Given the description of an element on the screen output the (x, y) to click on. 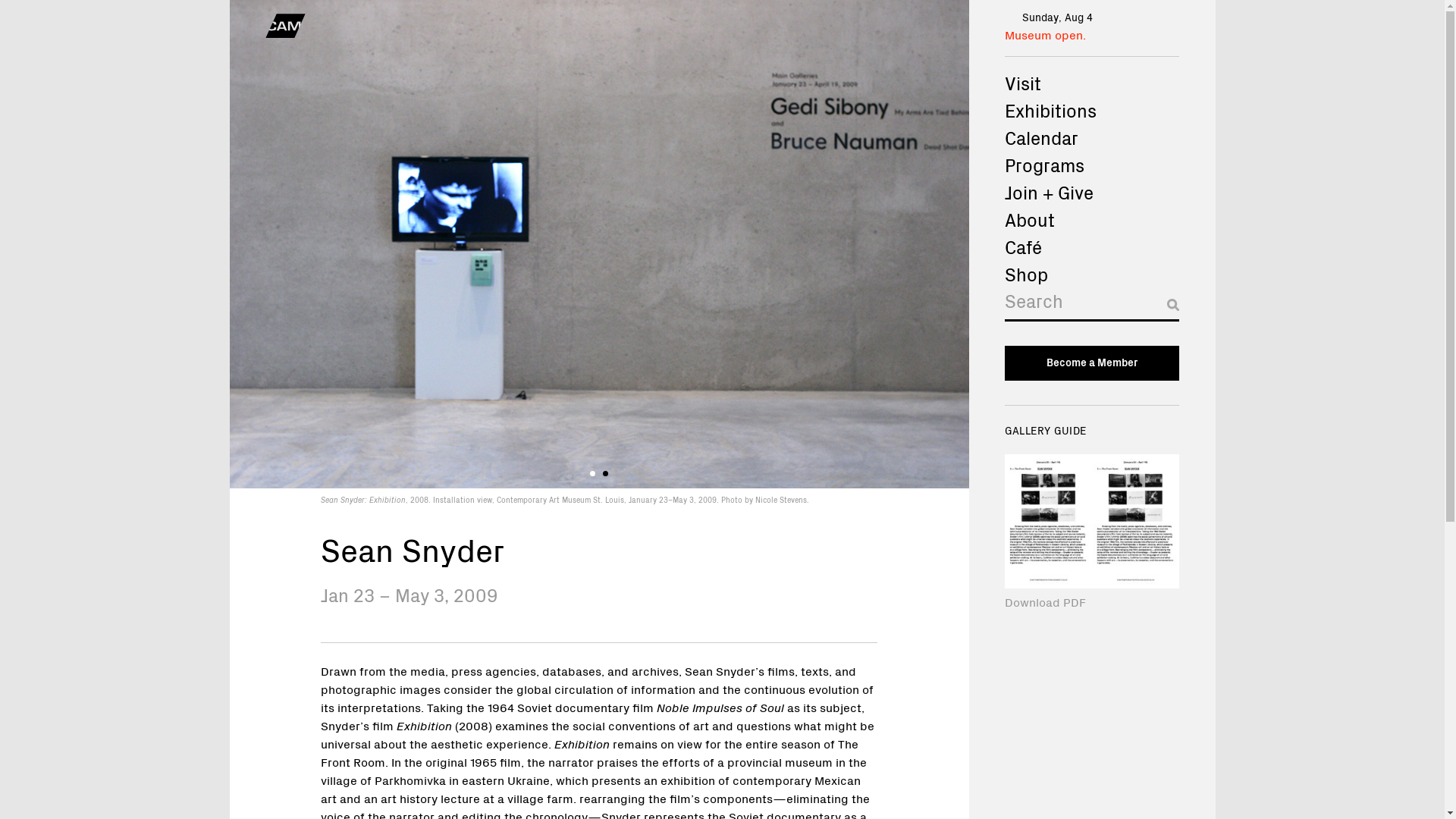
2 (605, 472)
Museum open (1043, 33)
1 (592, 472)
Calendar (1090, 136)
Exhibitions (1090, 109)
About (1090, 218)
Programs (1090, 164)
Shop (1090, 273)
Visit (1090, 82)
Become a Member (1090, 362)
